Given the description of an element on the screen output the (x, y) to click on. 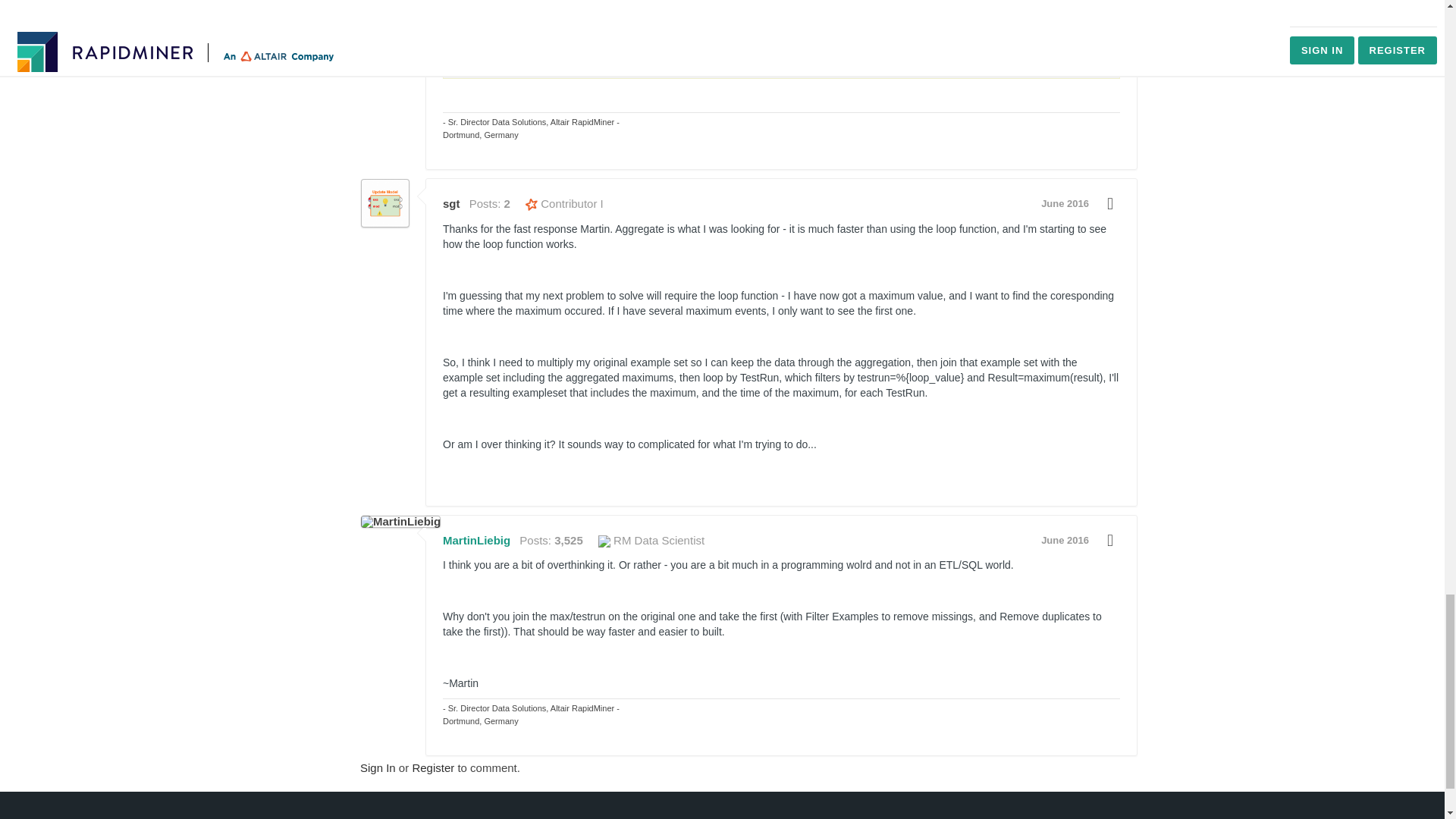
Contributor I (564, 203)
sgt (385, 203)
